Given the description of an element on the screen output the (x, y) to click on. 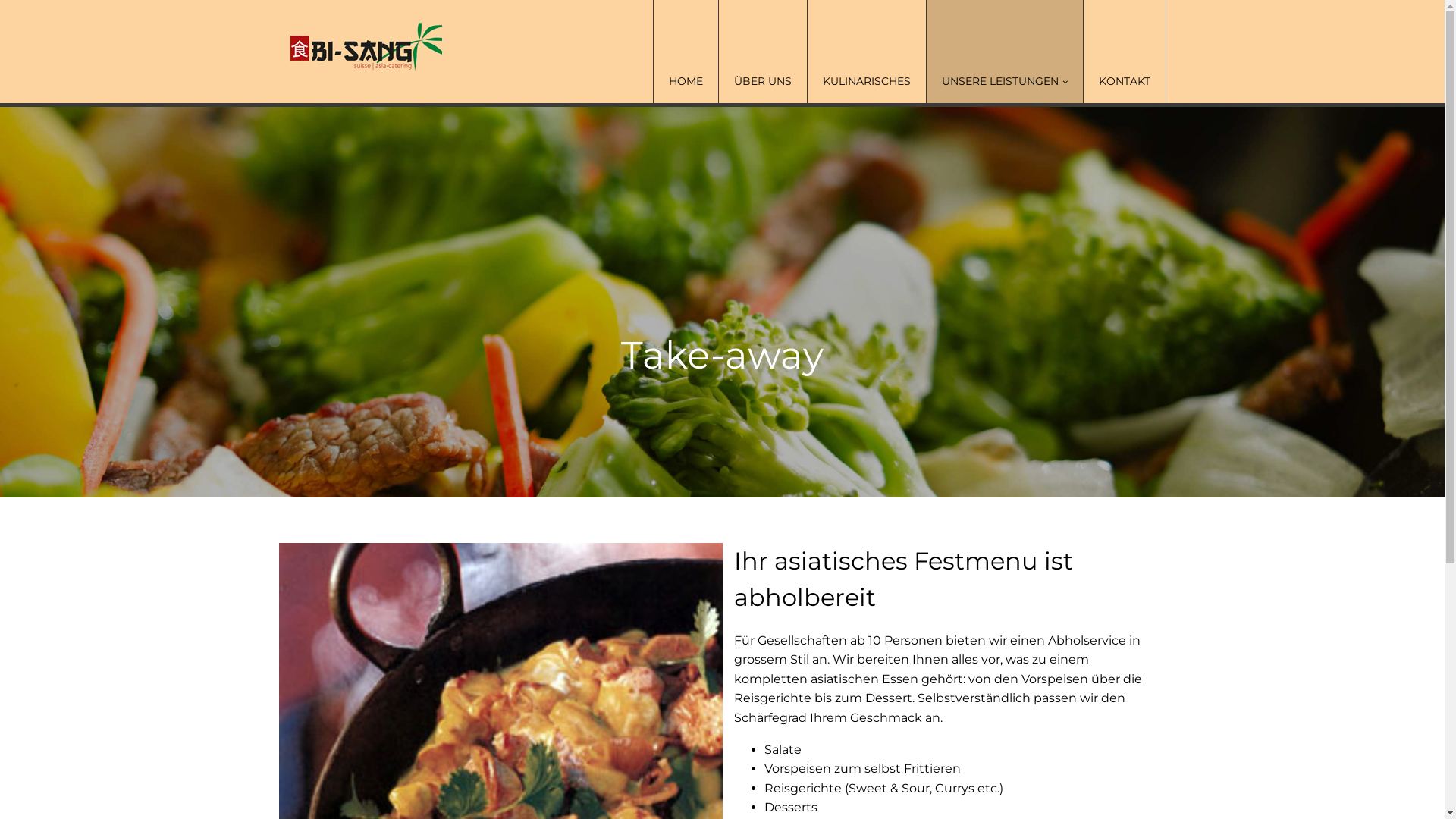
KULINARISCHES Element type: text (865, 51)
HOME Element type: text (684, 51)
KONTAKT Element type: text (1123, 51)
UNSERE LEISTUNGEN Element type: text (1003, 51)
